Given the description of an element on the screen output the (x, y) to click on. 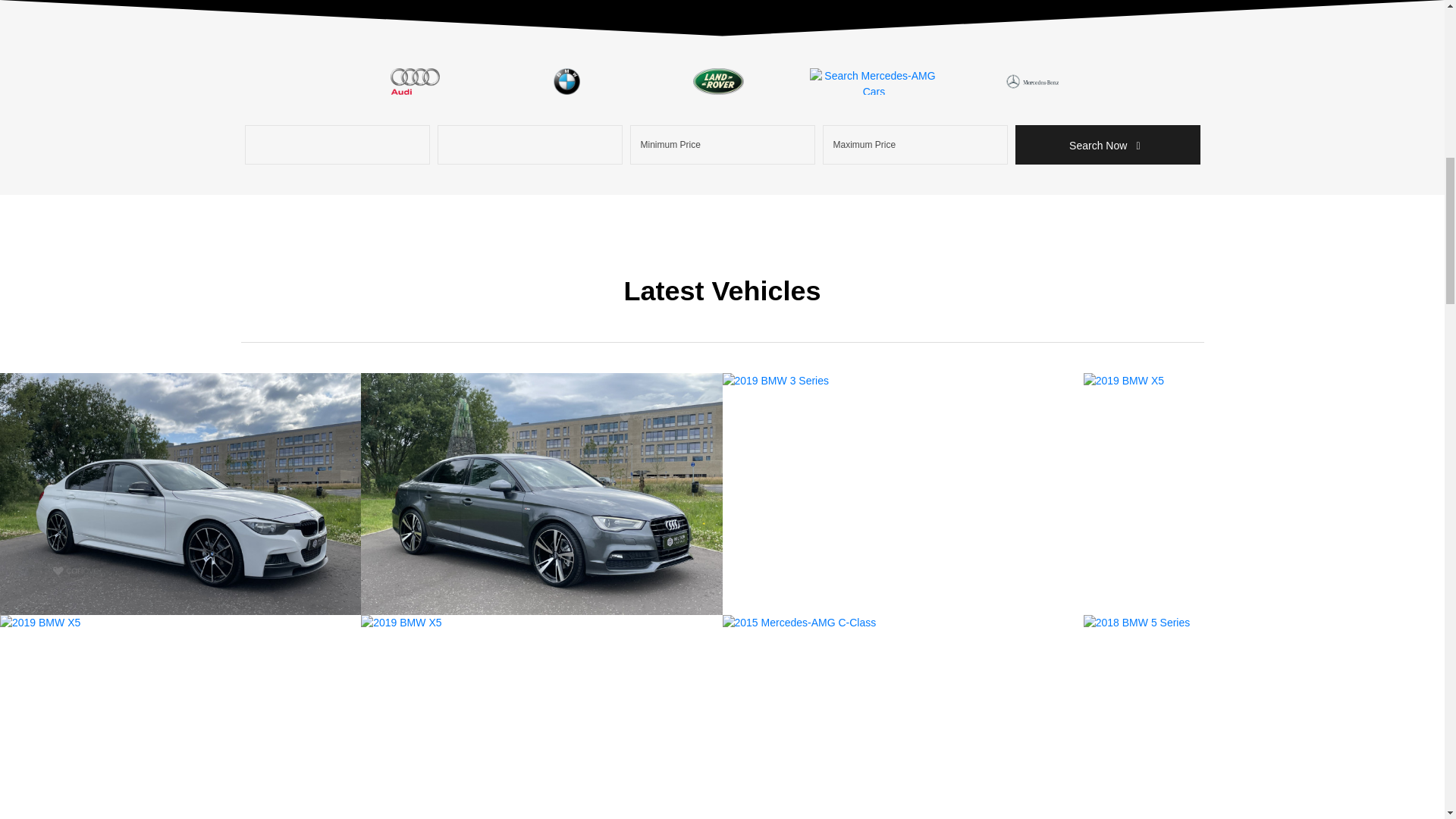
Search Now (1106, 144)
